Given the description of an element on the screen output the (x, y) to click on. 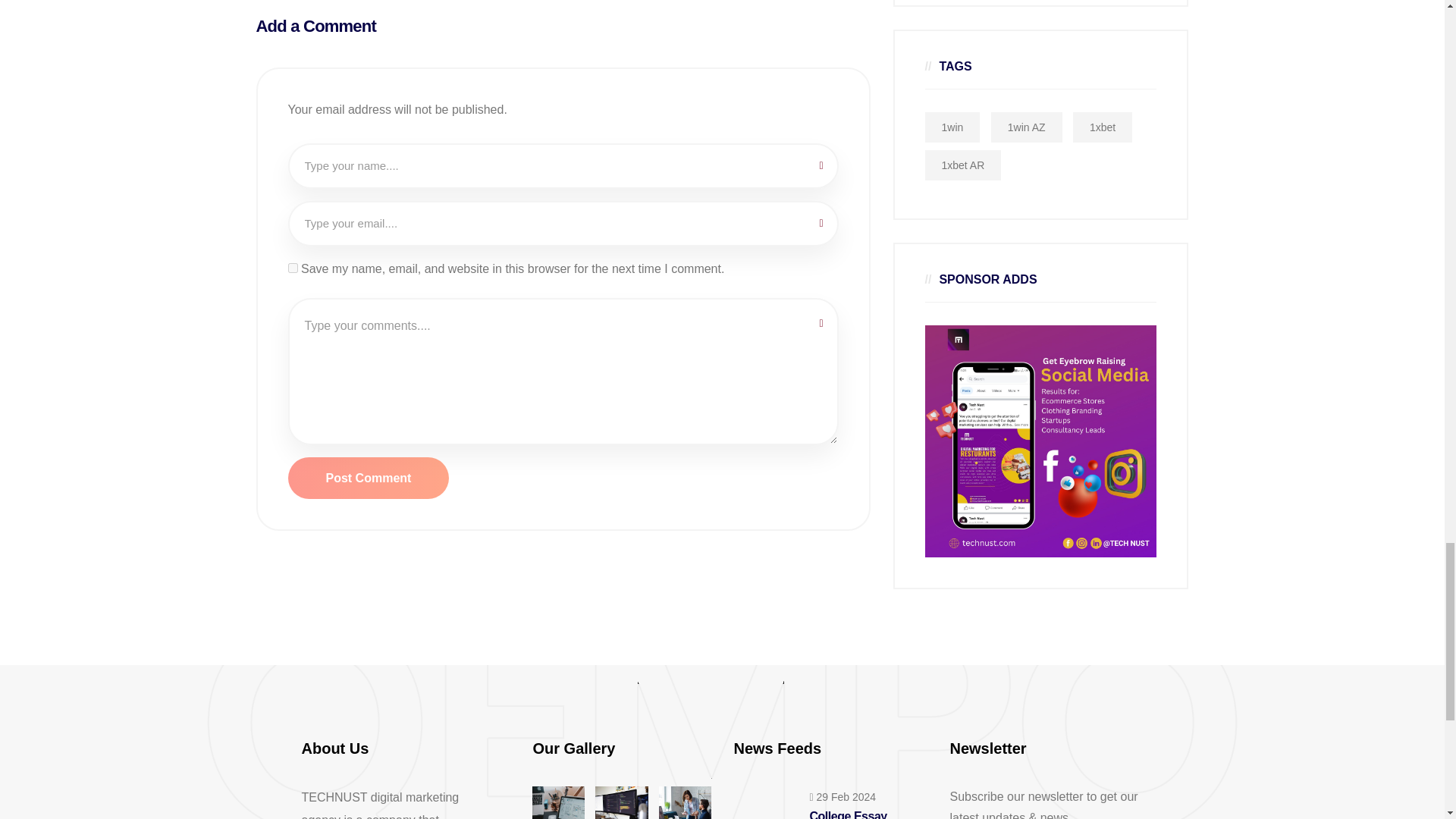
yes (293, 267)
Sponsor Adds (1040, 441)
Post Comment (368, 477)
Post Comment (368, 477)
